Given the description of an element on the screen output the (x, y) to click on. 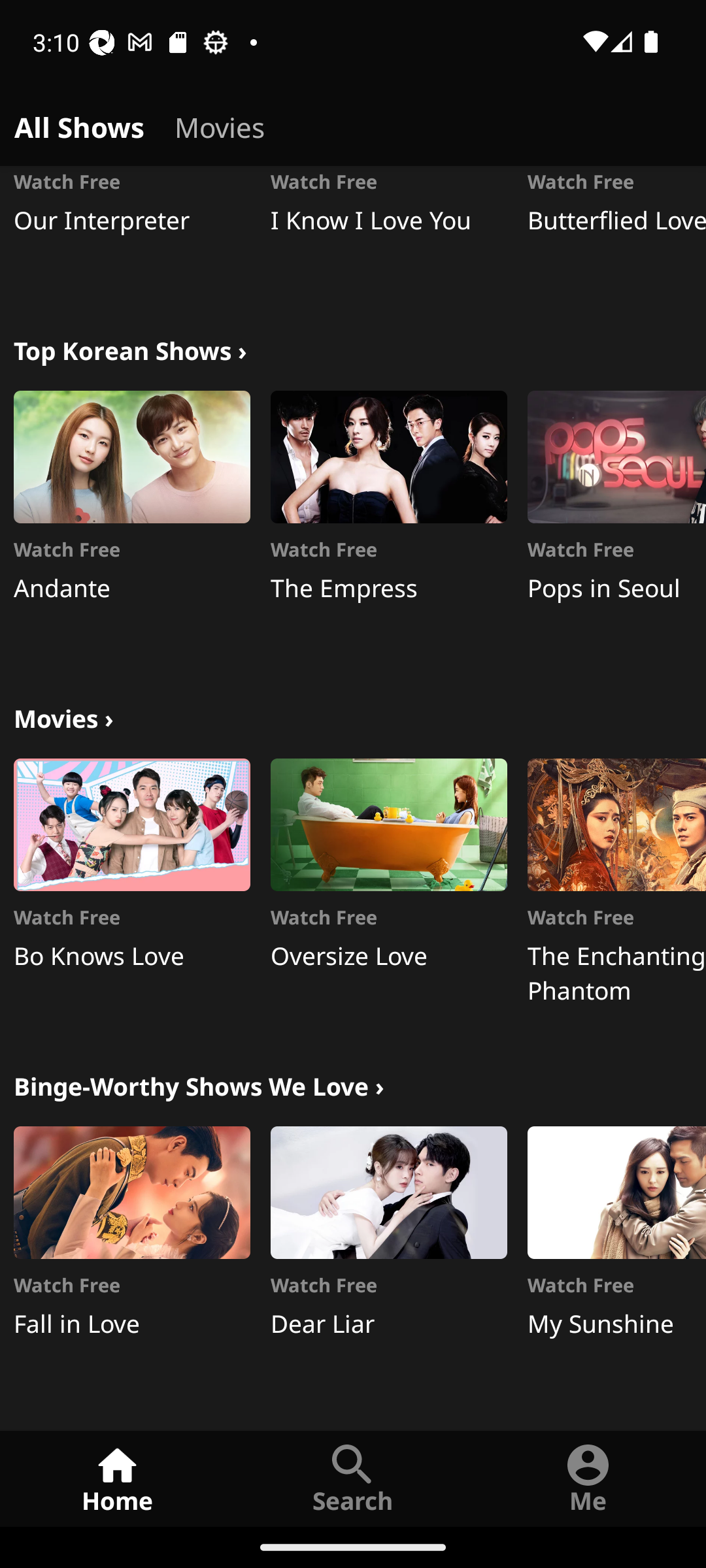
home_tab_movies Movies (219, 124)
resource_cell Watch Free Our Interpreter (131, 232)
resource_cell Watch Free I Know I Love You (388, 232)
resource_cell Watch Free Butterflied Lover (616, 232)
Top Korean Shows › korean_trending (130, 348)
Movies › movies_new (63, 715)
Binge-Worthy Shows We Love › 2652995l_collection (198, 1084)
Search (352, 1478)
Me (588, 1478)
